Given the description of an element on the screen output the (x, y) to click on. 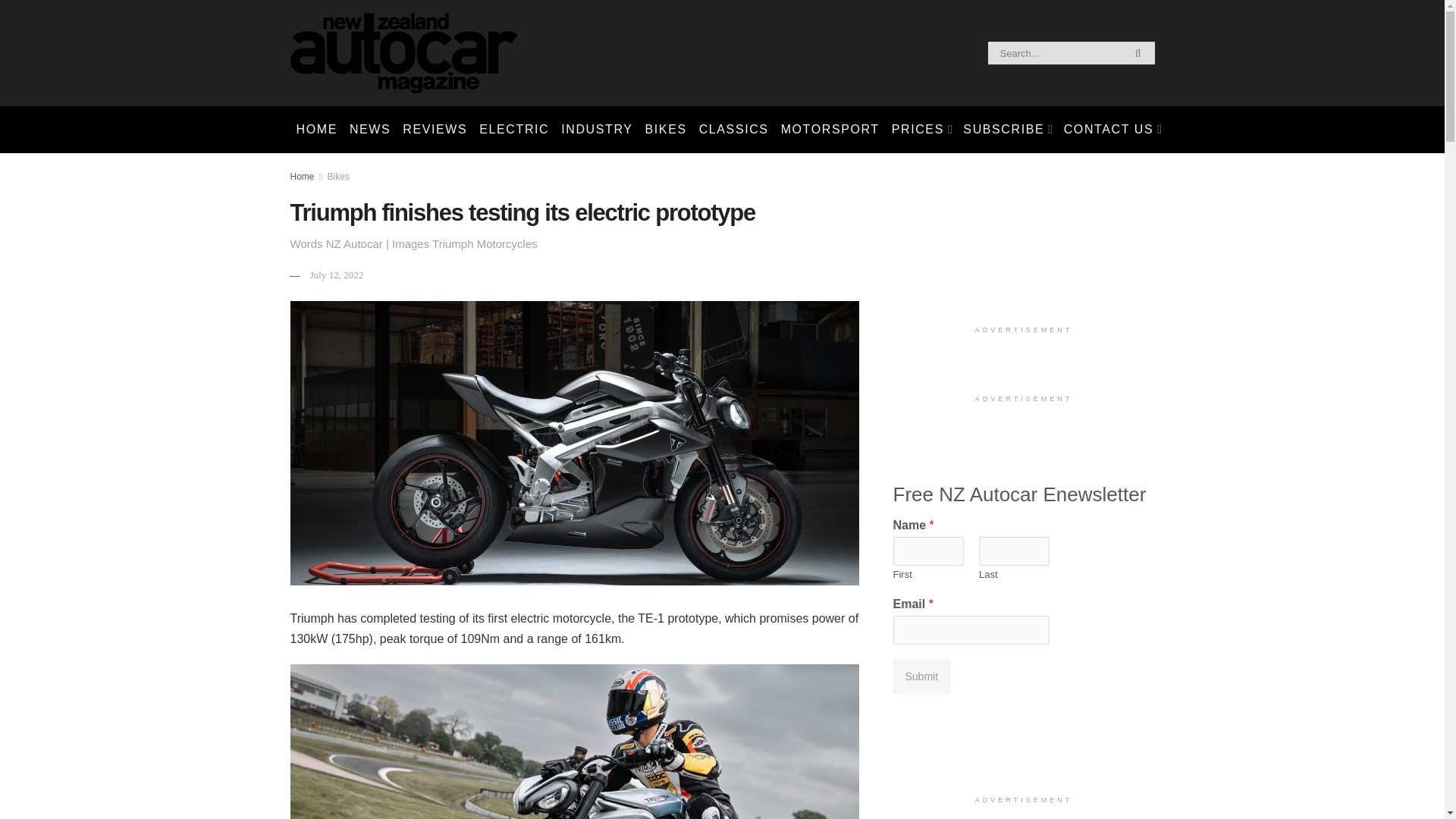
CLASSICS (733, 128)
HOME (315, 128)
PRICES (921, 128)
REVIEWS (434, 128)
NEWS (369, 128)
MOTORSPORT (829, 128)
ELECTRIC (513, 128)
BIKES (666, 128)
INDUSTRY (596, 128)
